Given the description of an element on the screen output the (x, y) to click on. 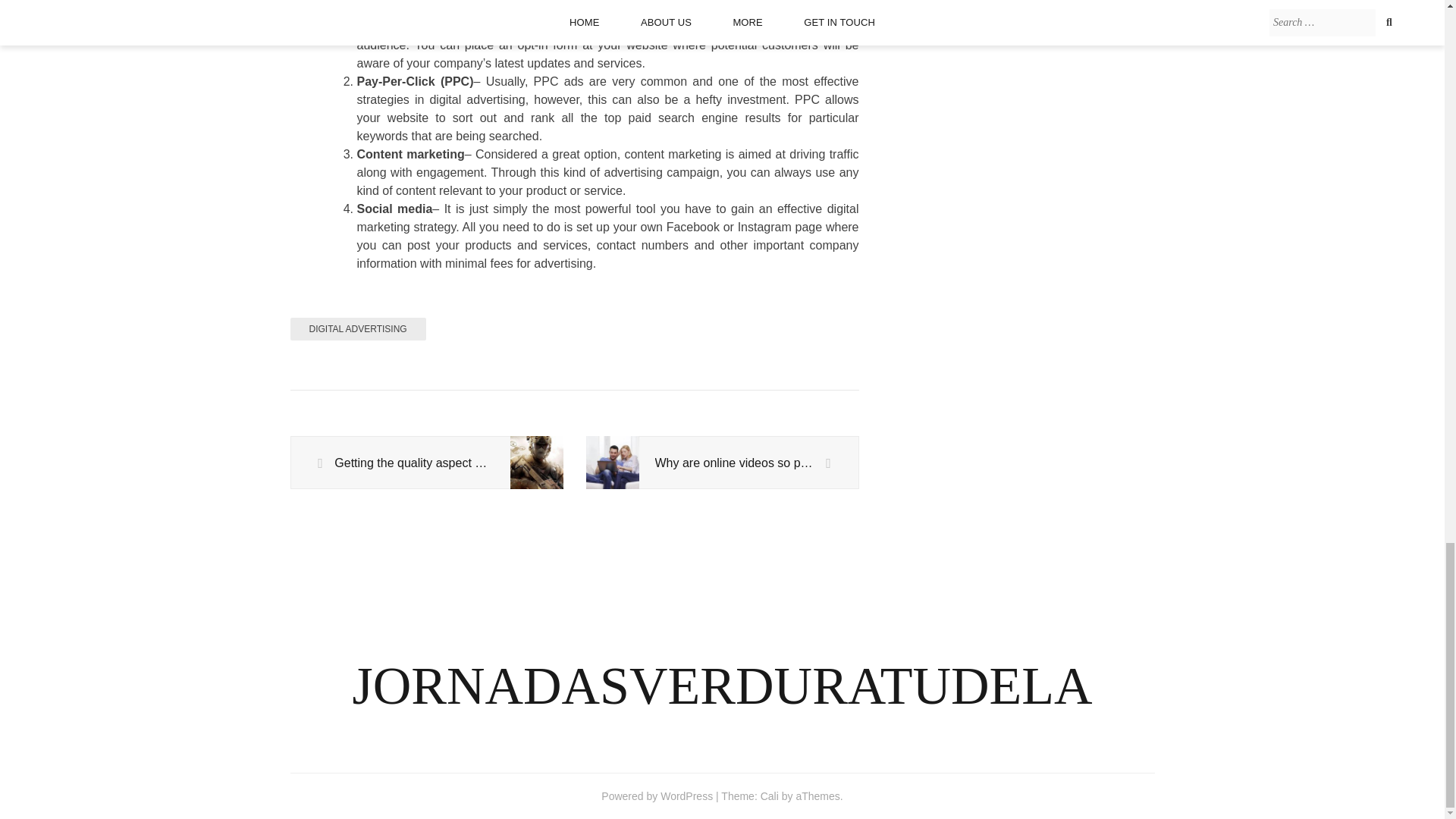
DIGITAL ADVERTISING (357, 328)
JORNADASVERDURATUDELA (722, 685)
Getting the quality aspect with the cinematic motion (426, 462)
Getting the quality aspect with the cinematic motion (426, 462)
WordPress (687, 796)
Why are online videos so popular these days? (722, 462)
Cali (769, 796)
